Given the description of an element on the screen output the (x, y) to click on. 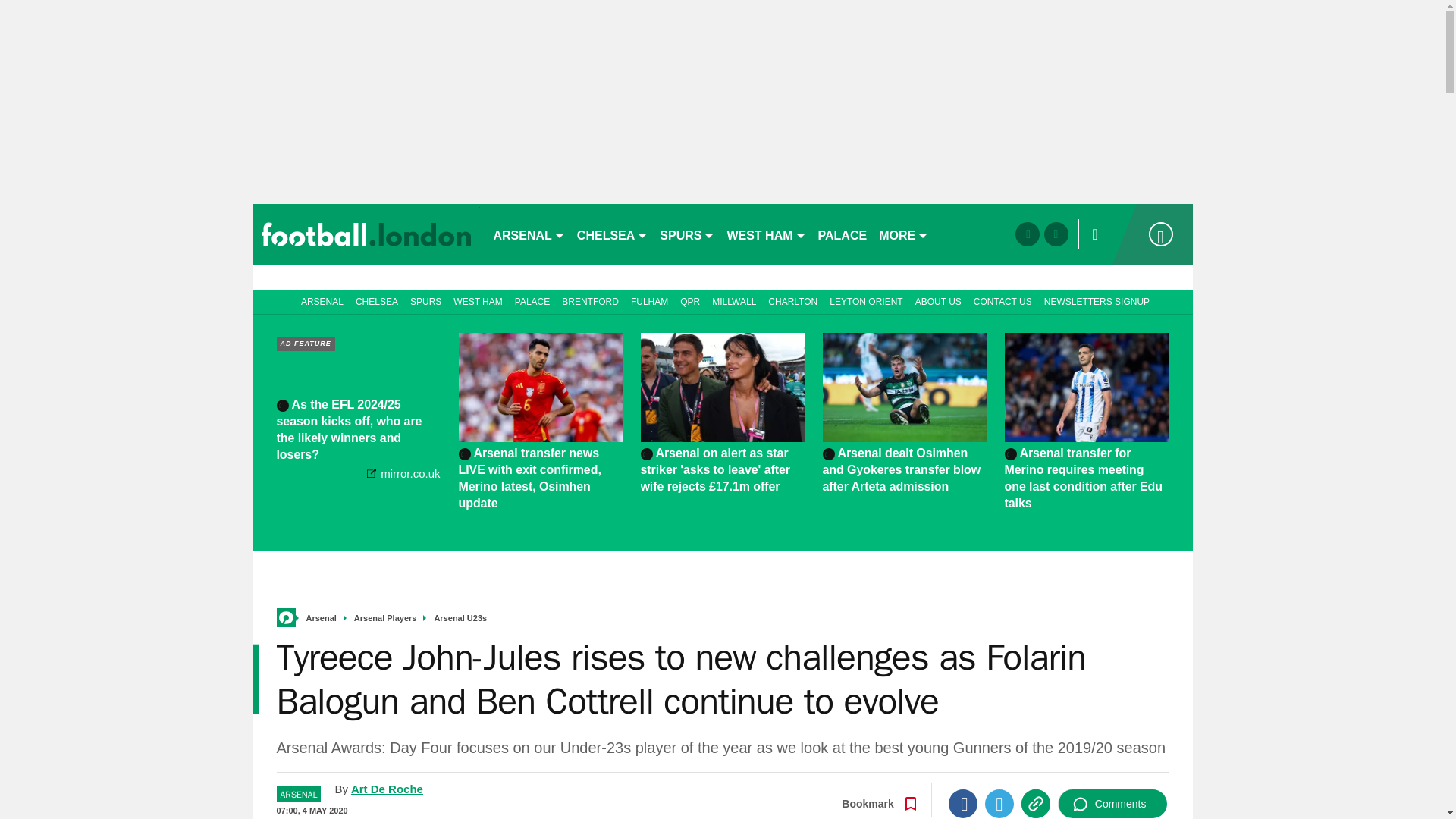
MORE (903, 233)
facebook (1026, 233)
footballlondon (365, 233)
Twitter (999, 803)
twitter (1055, 233)
Comments (1112, 803)
SPURS (686, 233)
WEST HAM (765, 233)
CHELSEA (611, 233)
ARSENAL (528, 233)
